Given the description of an element on the screen output the (x, y) to click on. 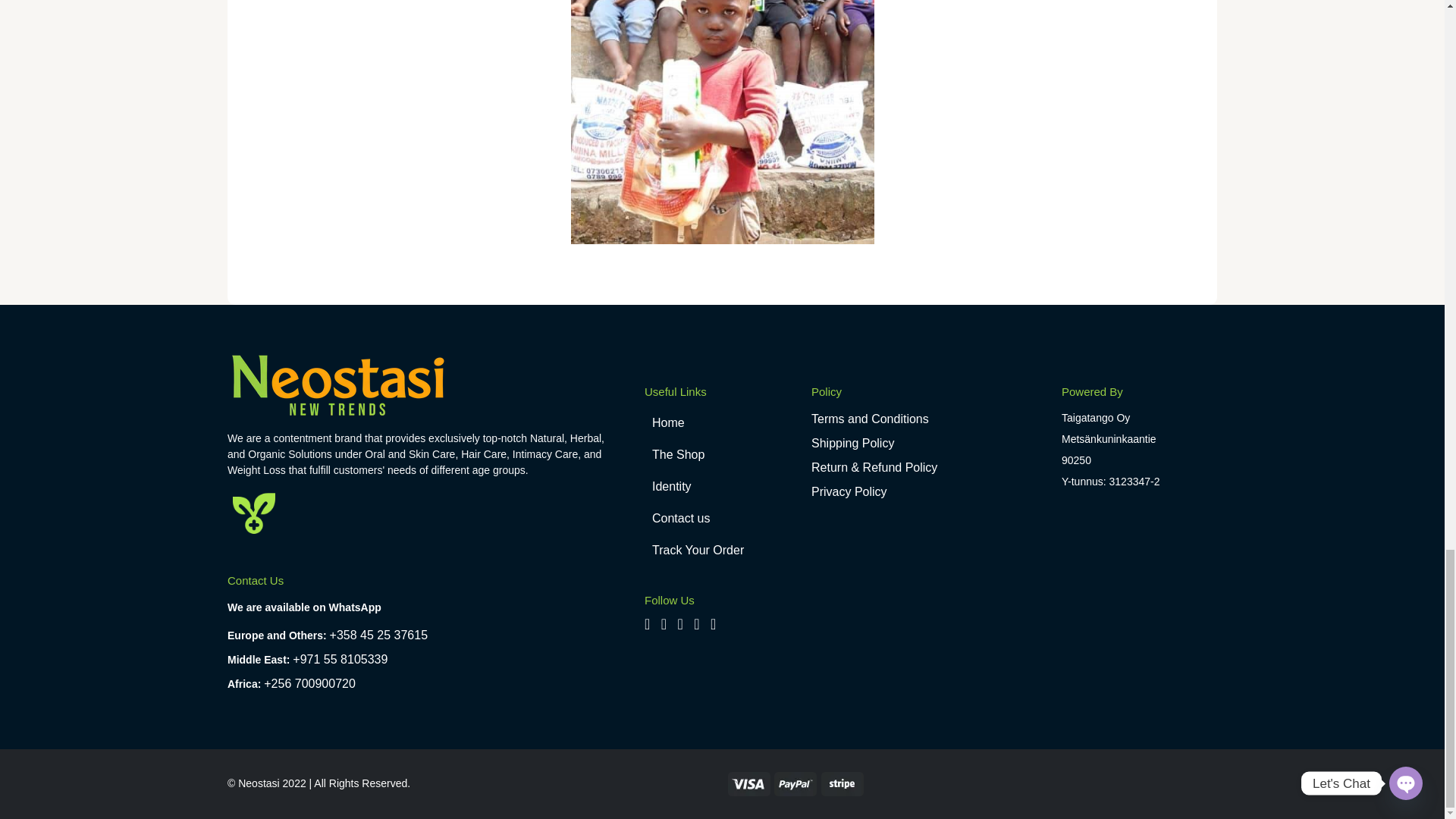
Shipping Policy (851, 442)
Home (722, 422)
The Shop (722, 454)
Contact us (722, 518)
Track Your Order (722, 550)
Identity (722, 486)
Privacy Policy (848, 491)
Terms and Conditions (869, 418)
